Given the description of an element on the screen output the (x, y) to click on. 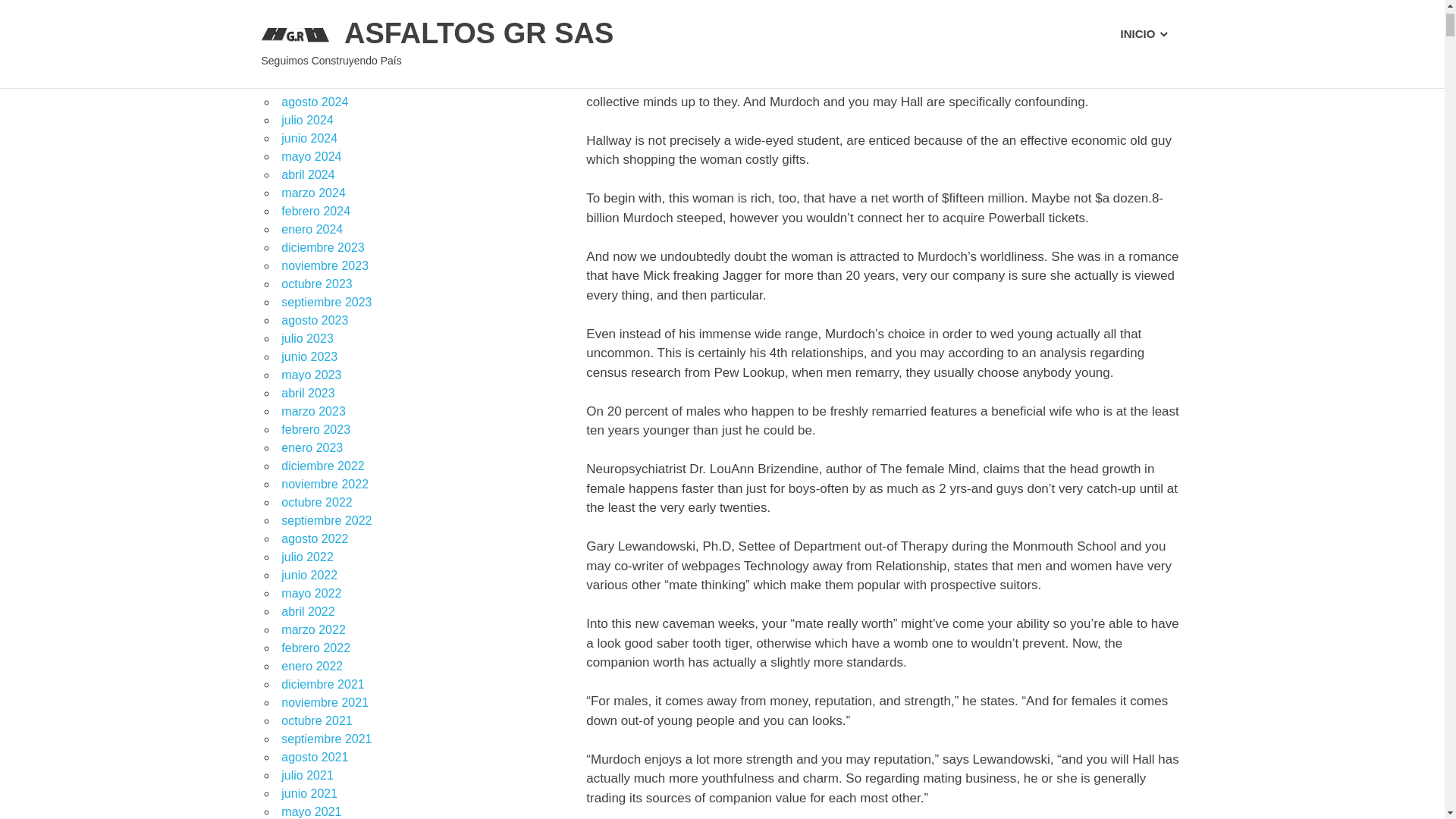
noviembre 2023 (324, 265)
febrero 2024 (315, 210)
enero 2024 (311, 228)
abril 2023 (307, 392)
agosto 2024 (314, 101)
noviembre 2022 (324, 483)
diciembre 2022 (322, 465)
marzo 2023 (313, 410)
abril 2024 (307, 174)
julio 2023 (307, 338)
octubre 2023 (316, 283)
julio 2024 (307, 119)
agosto 2023 (314, 319)
junio 2023 (309, 356)
enero 2023 (311, 447)
